Given the description of an element on the screen output the (x, y) to click on. 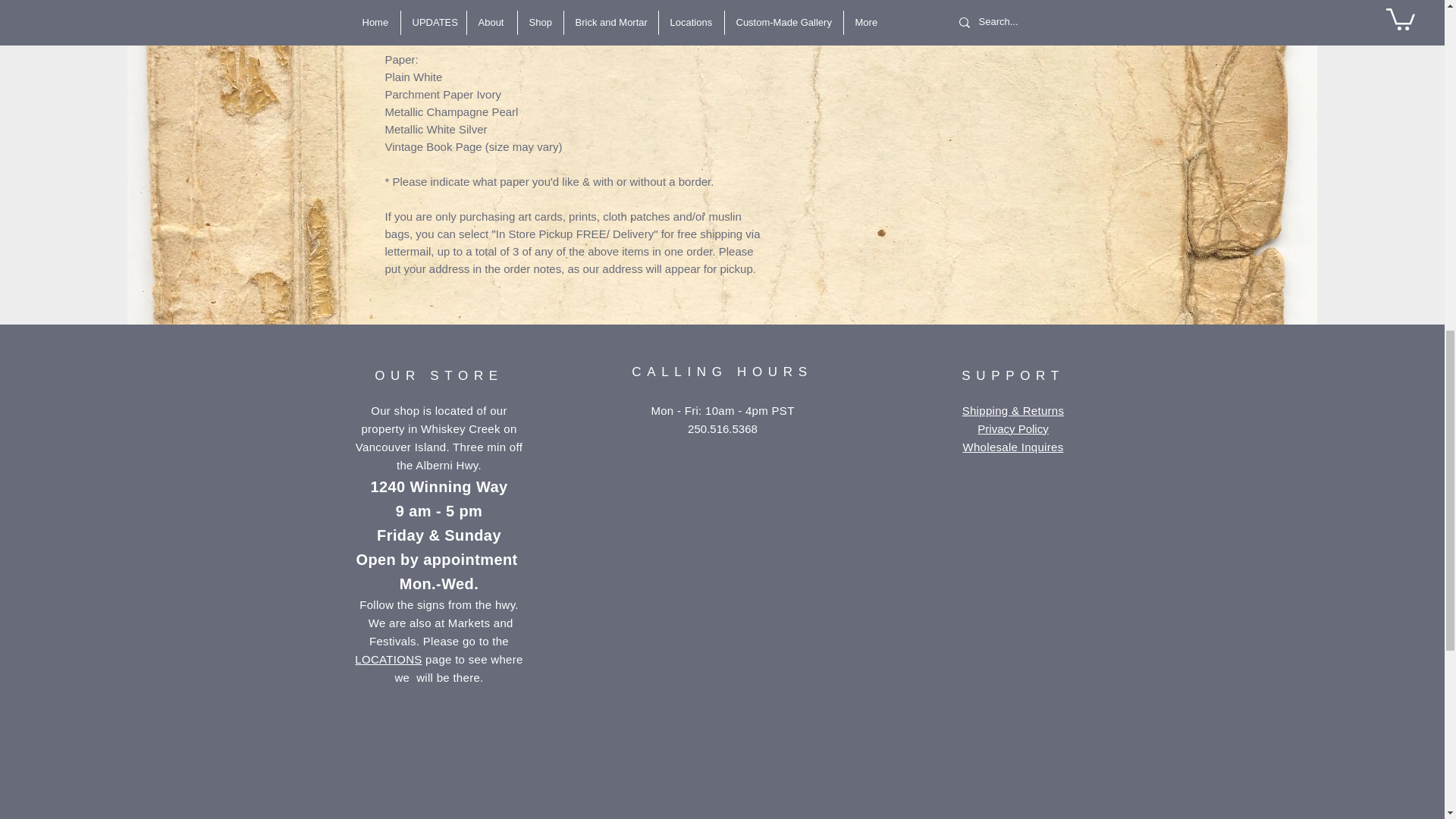
Follow the signs from the hwy. (438, 604)
1240 Winning Way (437, 486)
